Given the description of an element on the screen output the (x, y) to click on. 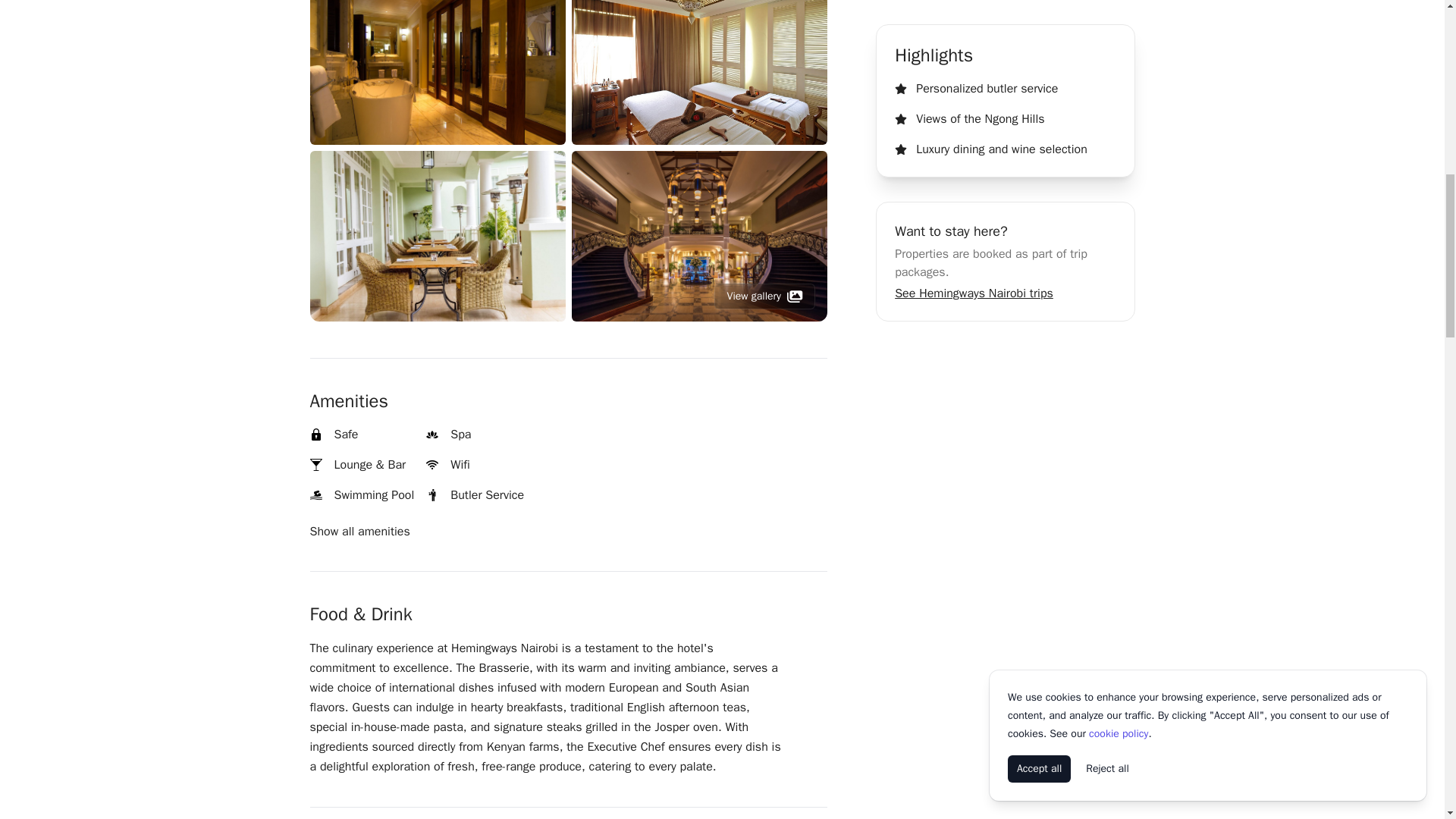
View gallery (764, 296)
